Given the description of an element on the screen output the (x, y) to click on. 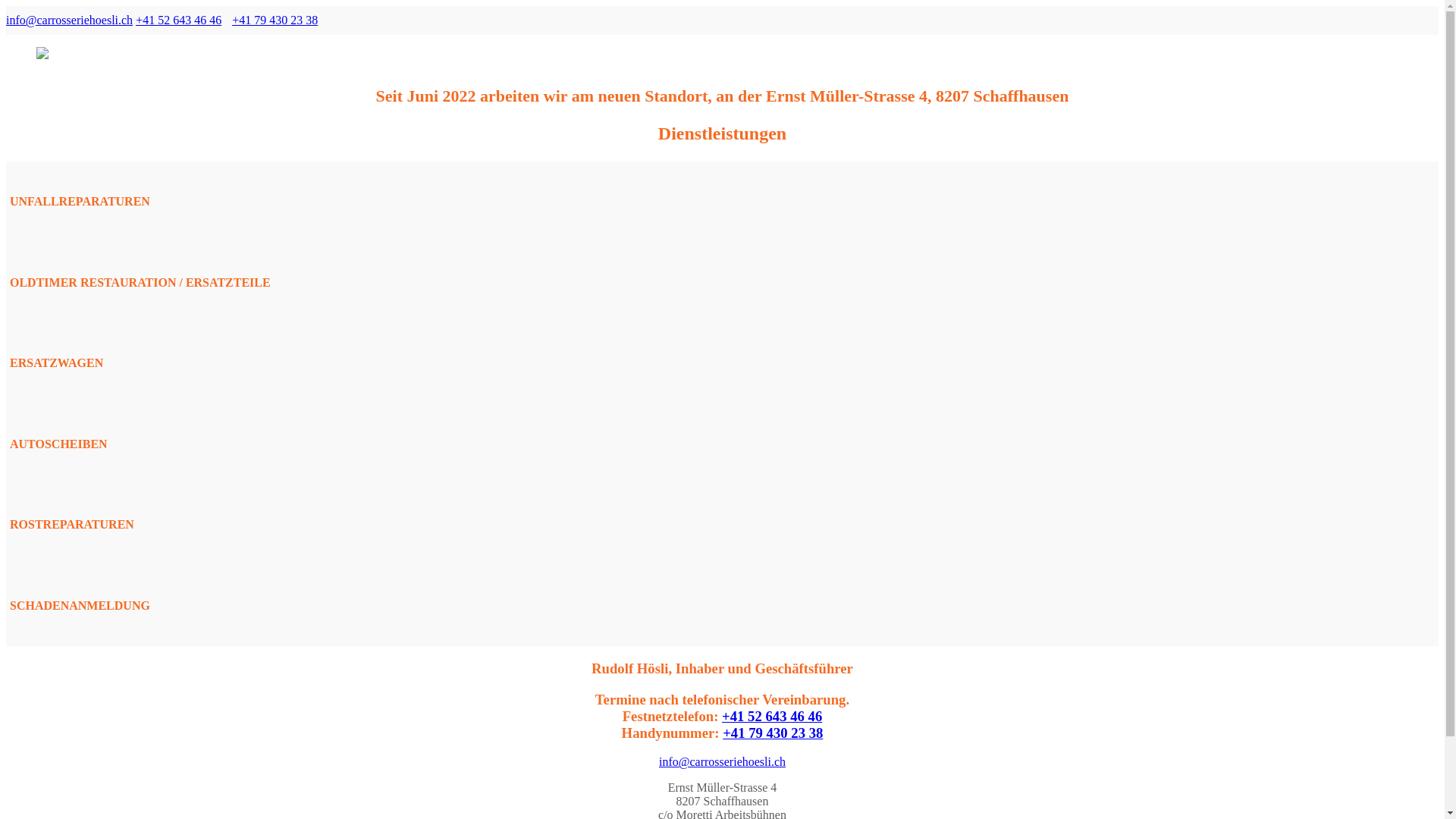
info@carrosseriehoesli.ch Element type: text (69, 19)
+41 52 643 46 46 Element type: text (771, 716)
+41 79 430 23 38 Element type: text (772, 732)
+41 79 430 23 38 Element type: text (274, 19)
info@carrosseriehoesli.ch Element type: text (721, 761)
+41 52 643 46 46 Element type: text (178, 19)
